Given the description of an element on the screen output the (x, y) to click on. 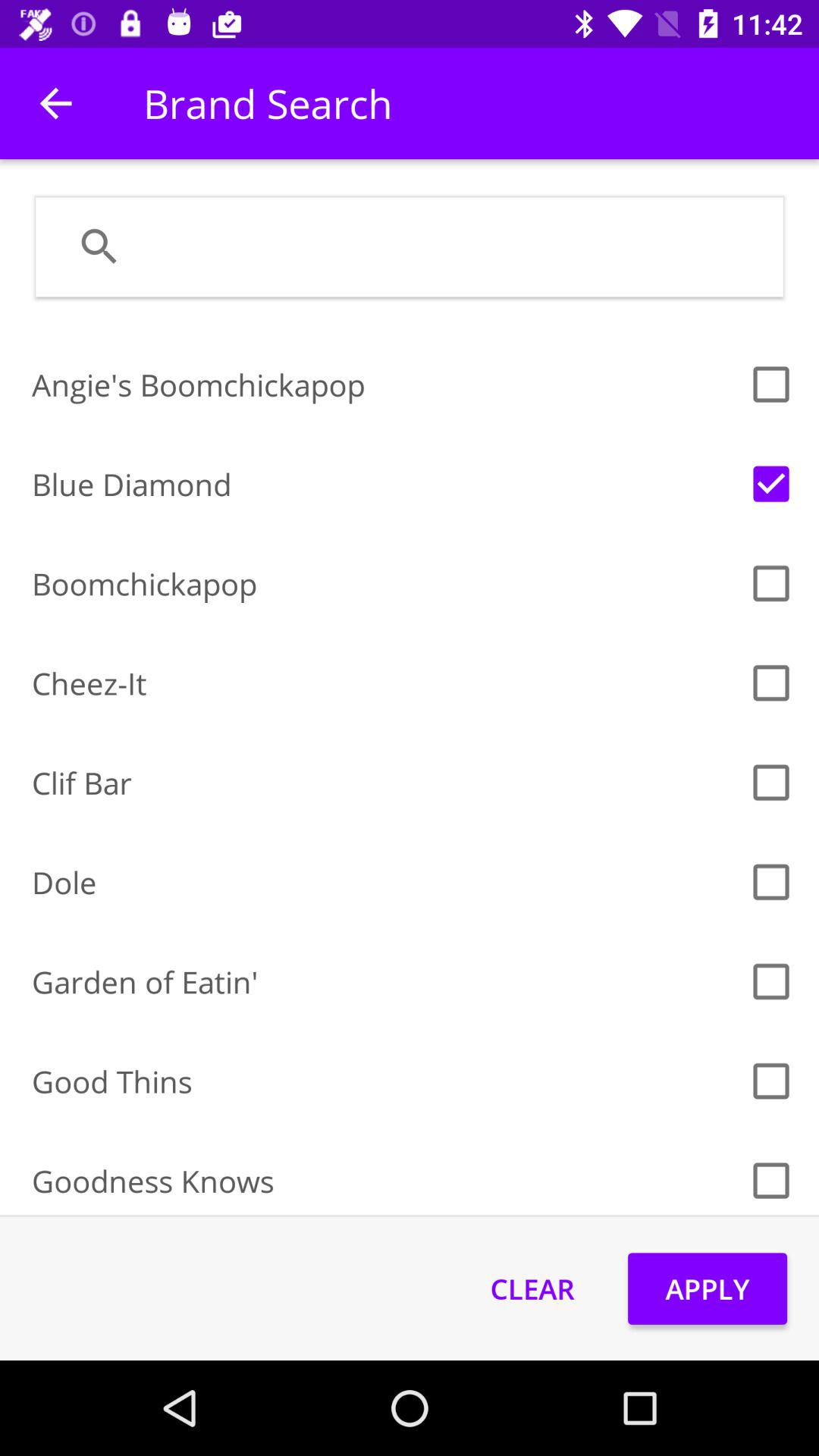
flip to the blue diamond (385, 484)
